Given the description of an element on the screen output the (x, y) to click on. 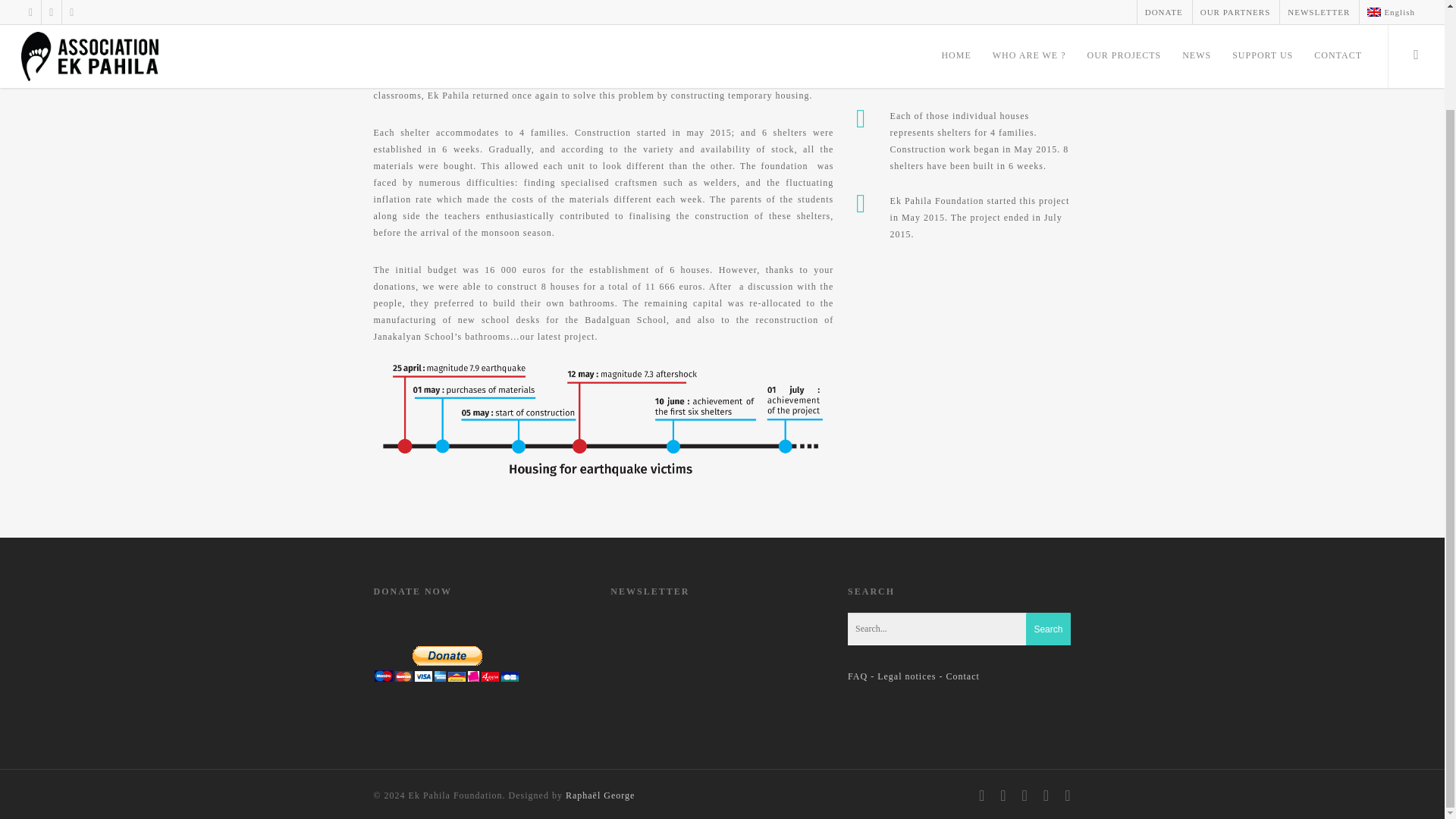
Legal notices (906, 675)
Search (1048, 629)
Search for: (958, 628)
Search (1048, 629)
Contact (962, 675)
Search (1048, 629)
FAQ (857, 675)
